Given the description of an element on the screen output the (x, y) to click on. 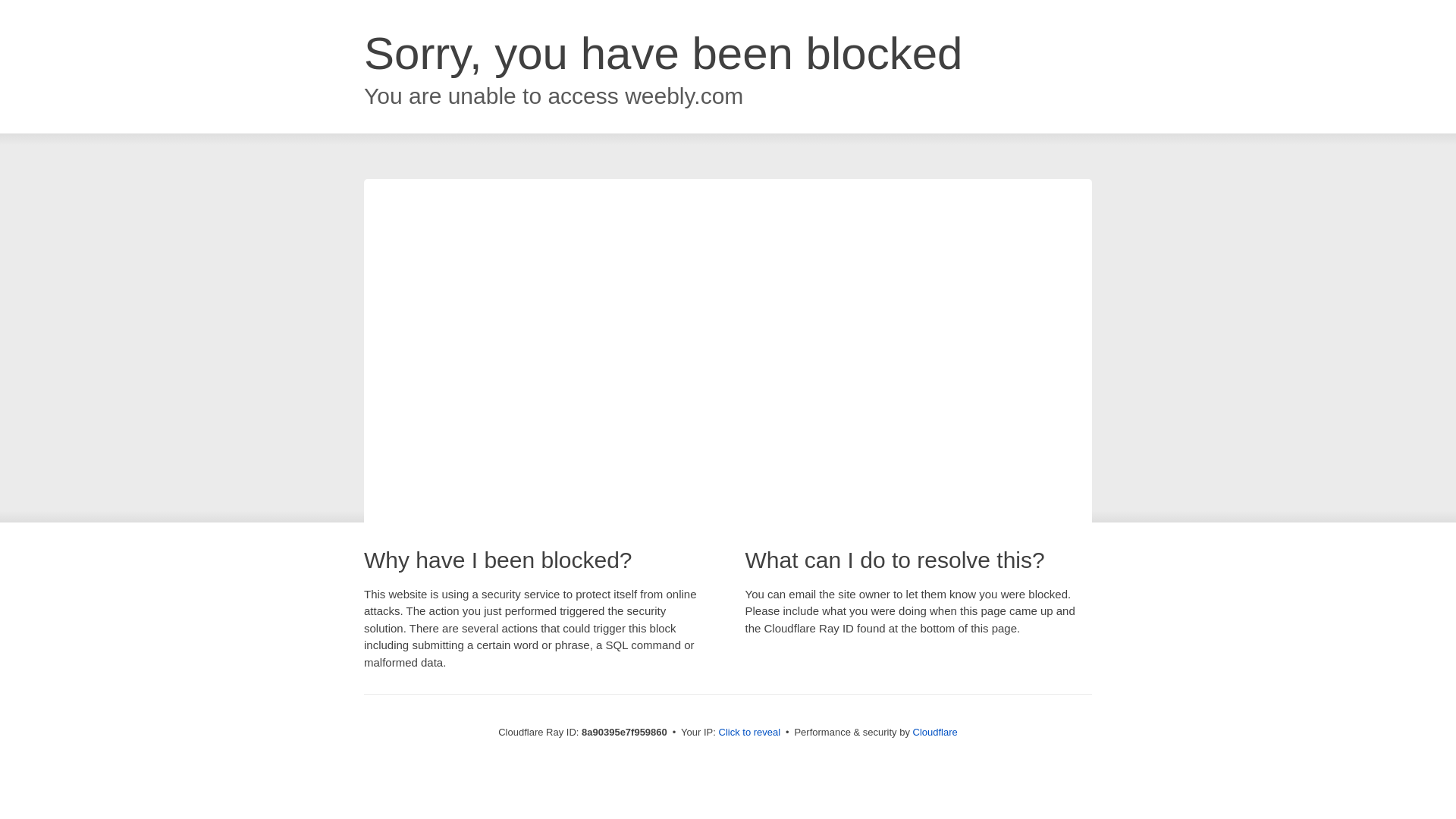
Click to reveal (749, 732)
Cloudflare (935, 731)
